Given the description of an element on the screen output the (x, y) to click on. 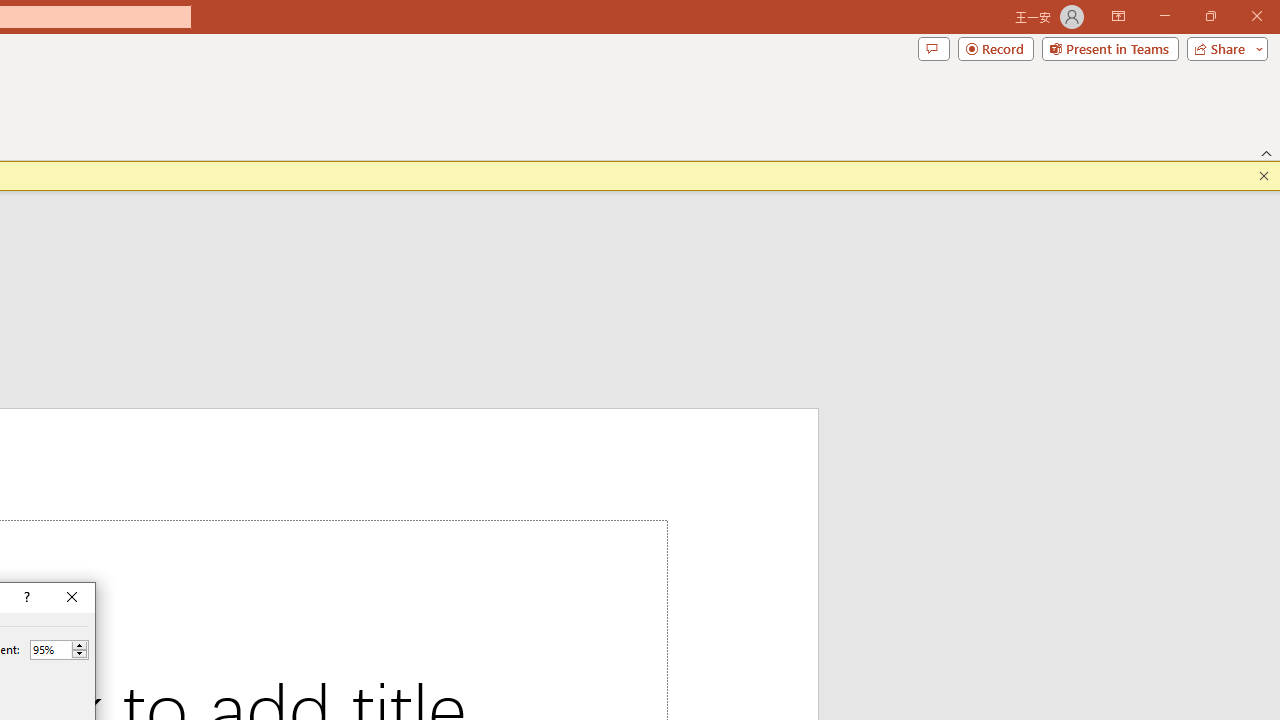
Percent (50, 649)
Percent (59, 650)
Close this message (1263, 176)
